Given the description of an element on the screen output the (x, y) to click on. 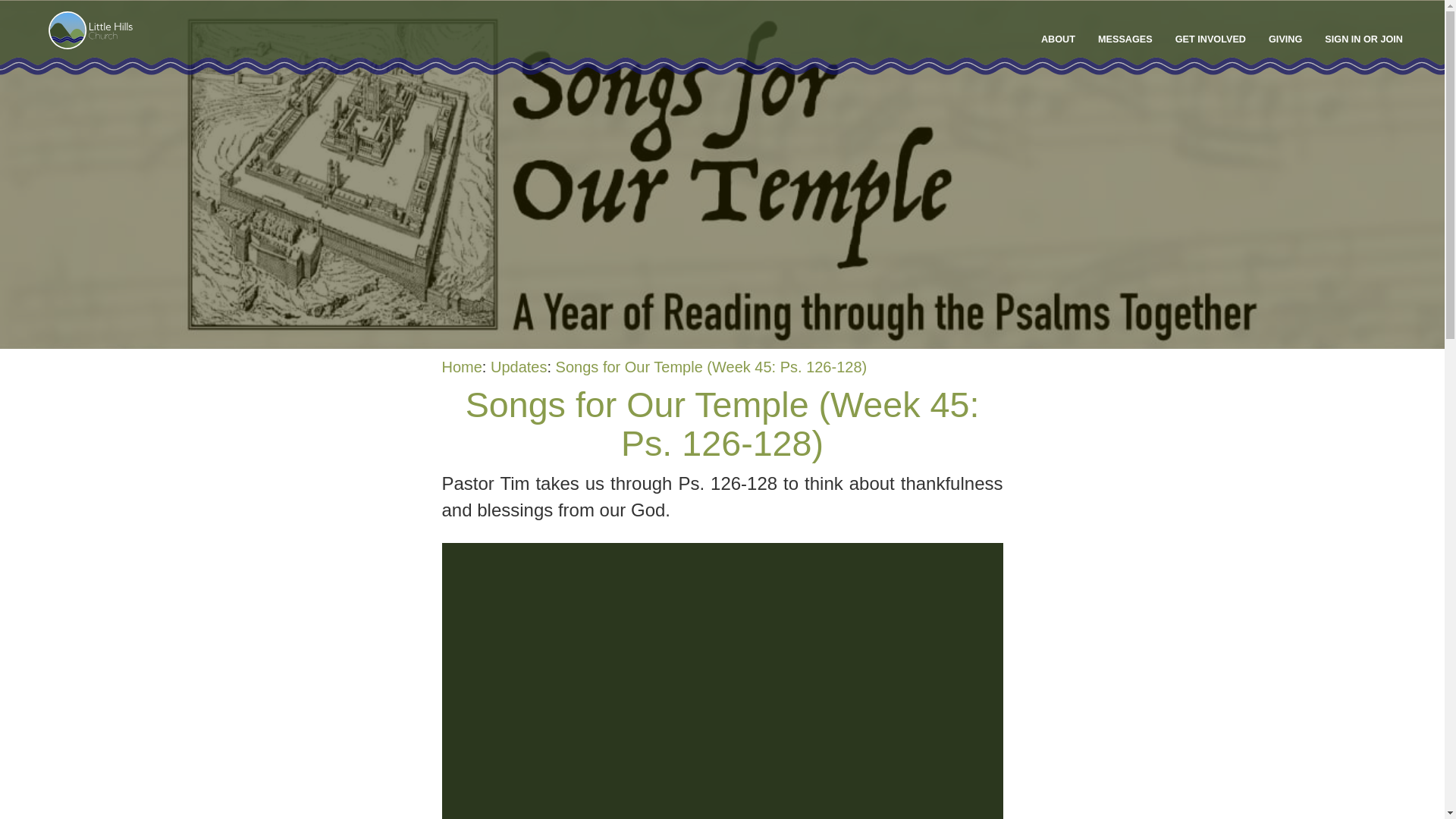
Home (461, 366)
GET INVOLVED (1210, 39)
MESSAGES (1124, 39)
SIGN IN OR JOIN (1363, 39)
Updates (518, 366)
